Given the description of an element on the screen output the (x, y) to click on. 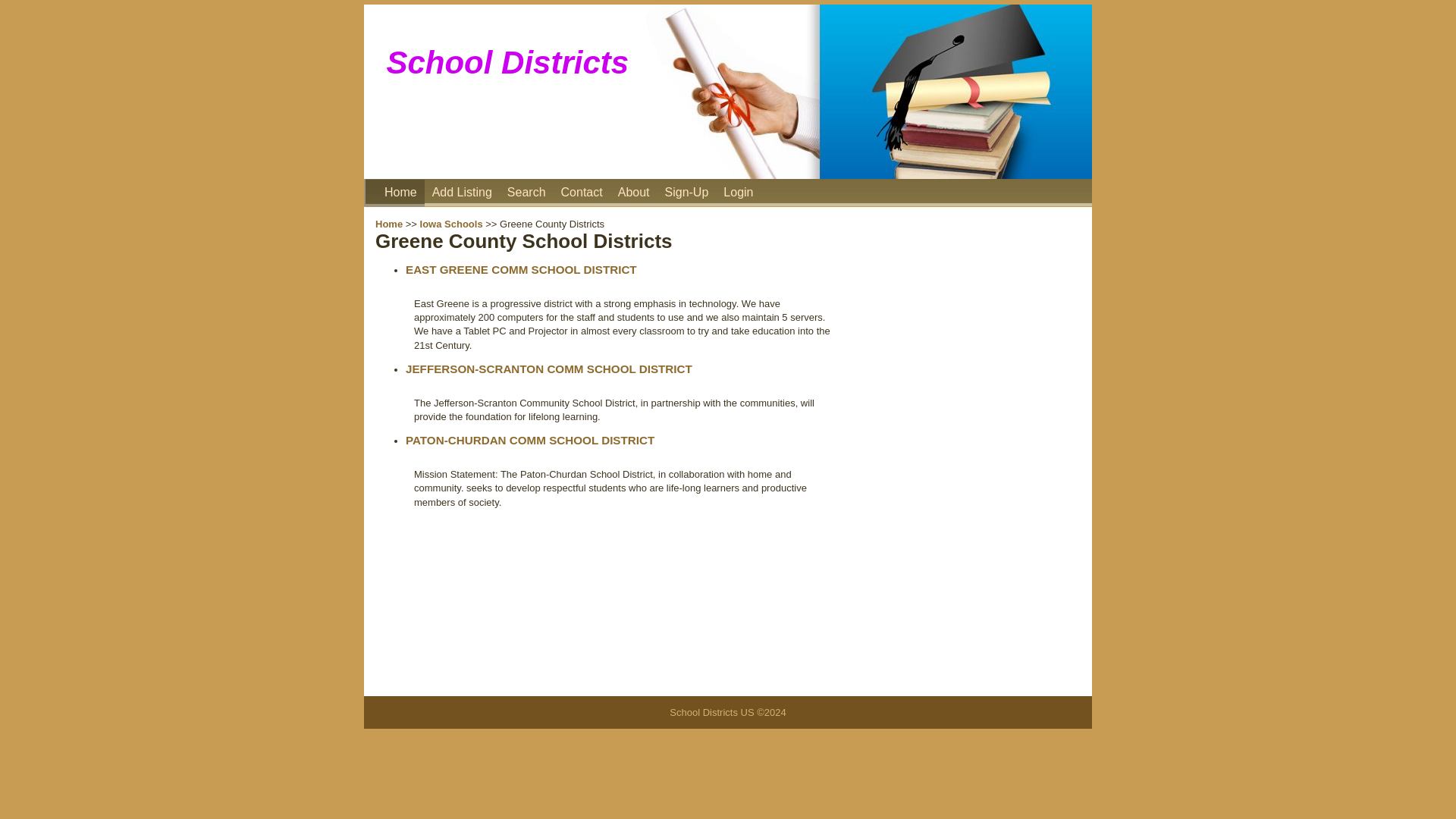
Home (400, 192)
Iowa Schools (451, 224)
Home (389, 224)
Add Listing (462, 192)
Login (737, 192)
About (633, 192)
New Member Signup (687, 192)
Contact (581, 192)
Add Listing (462, 192)
Sign-Up (687, 192)
Search for Schools (526, 192)
JEFFERSON-SCRANTON COMM SCHOOL DISTRICT (549, 368)
School Districts (400, 192)
Log In (737, 192)
PATON-CHURDAN COMM SCHOOL DISTRICT (529, 440)
